Given the description of an element on the screen output the (x, y) to click on. 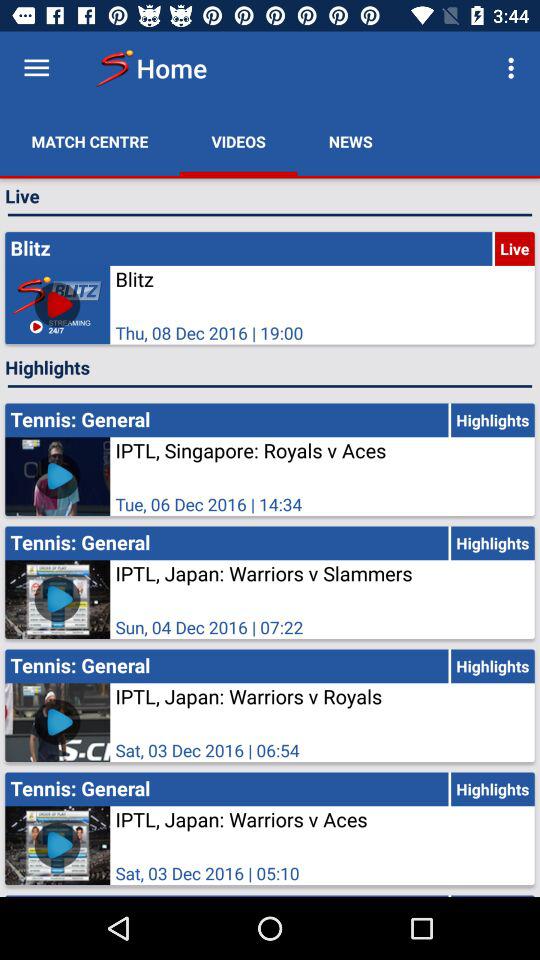
see menu (36, 68)
